Given the description of an element on the screen output the (x, y) to click on. 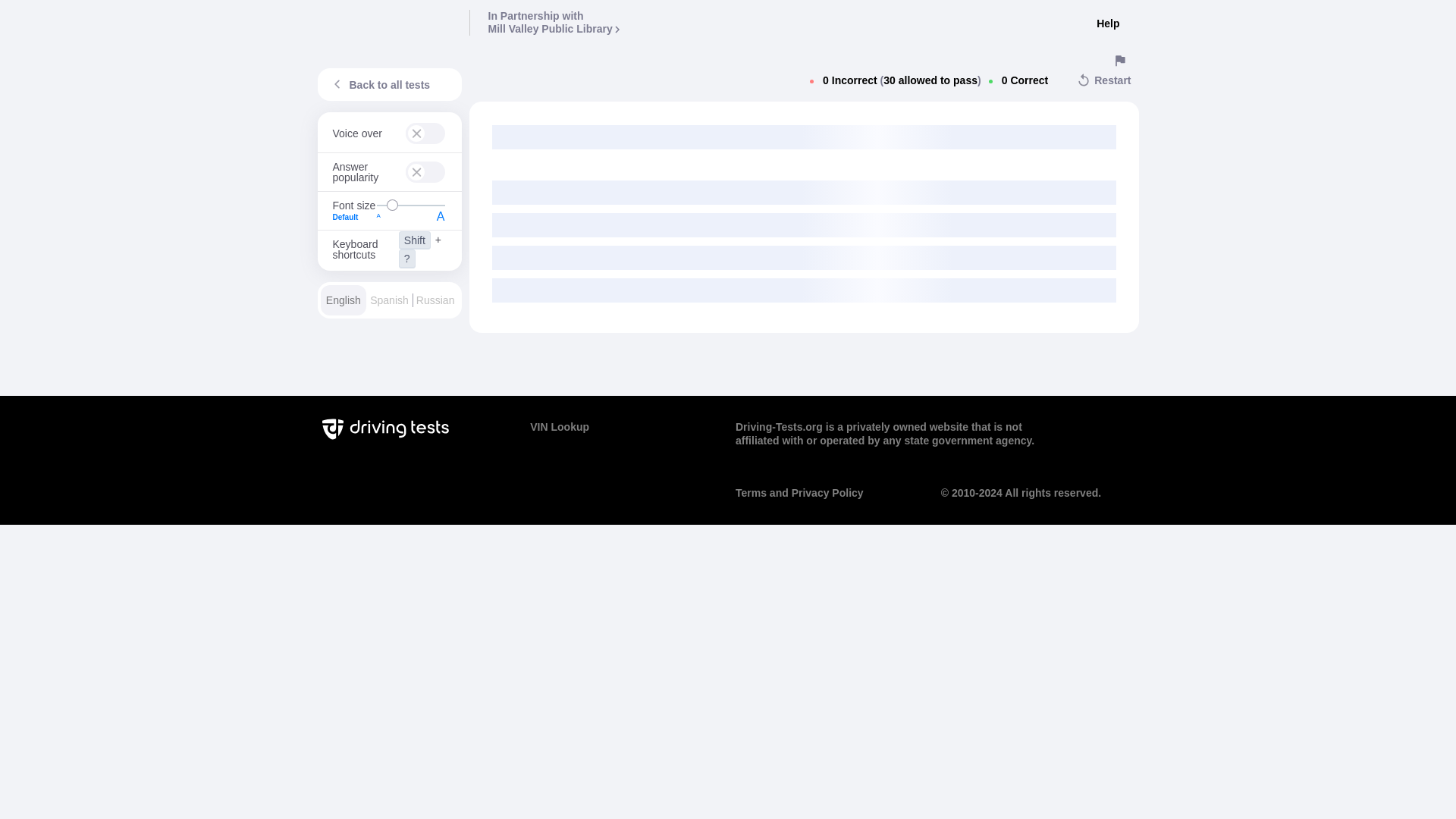
Help (553, 22)
driving-tests.org (1107, 23)
Default (384, 22)
160 (353, 217)
Back to all tests (409, 205)
